Given the description of an element on the screen output the (x, y) to click on. 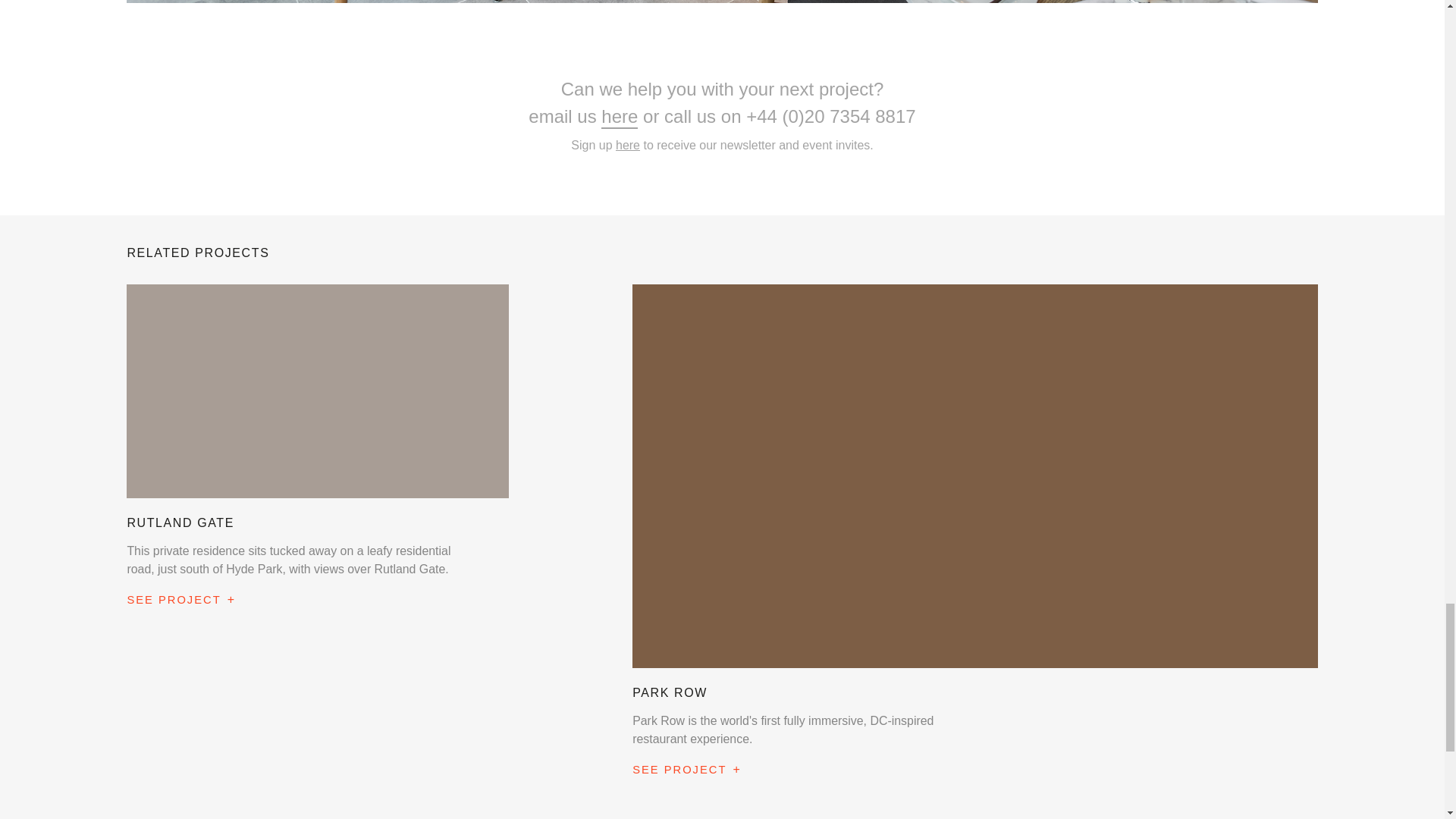
here (627, 144)
here (619, 116)
